Given the description of an element on the screen output the (x, y) to click on. 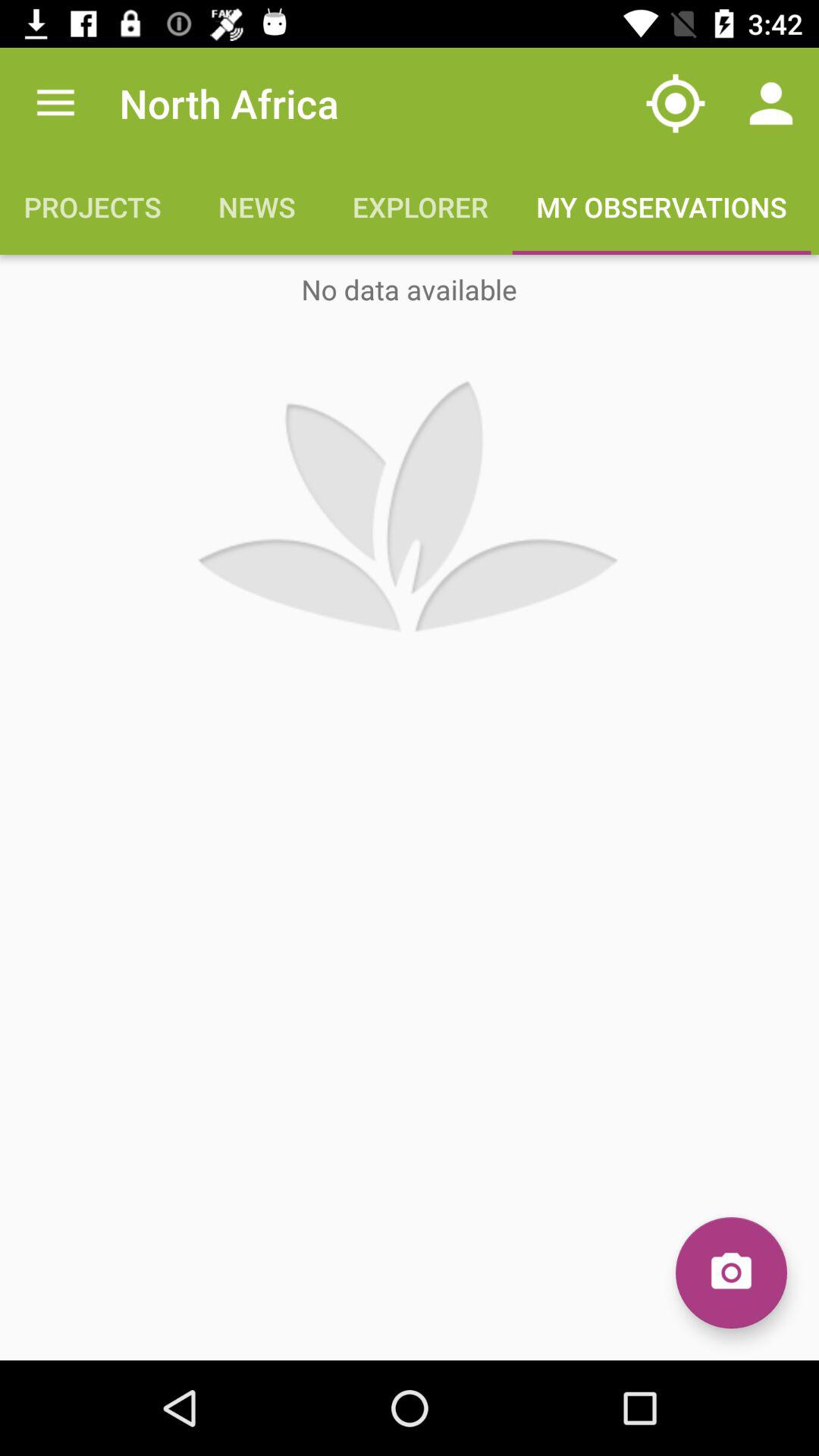
open icon at the bottom right corner (731, 1272)
